Given the description of an element on the screen output the (x, y) to click on. 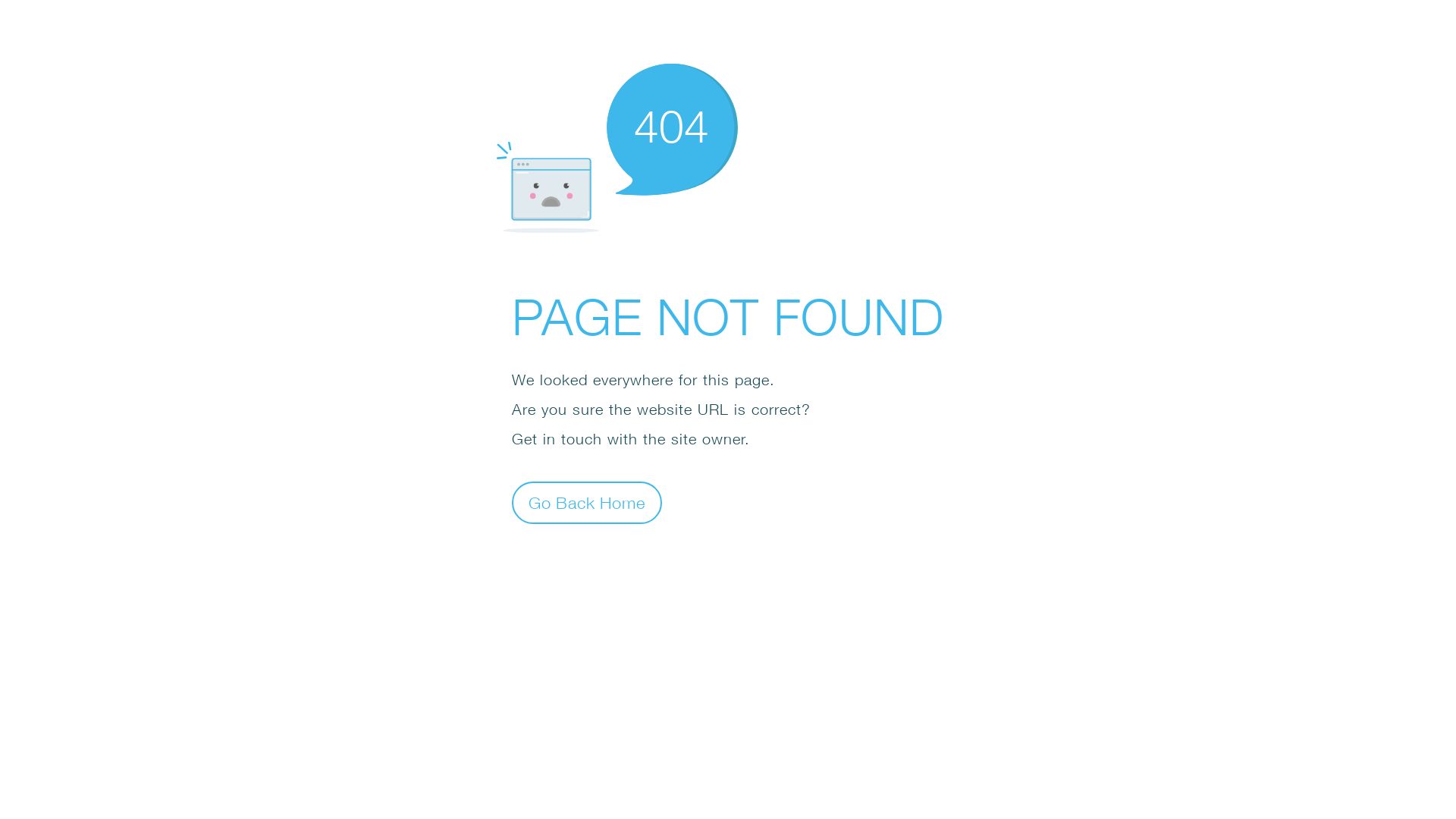
Go Back Home Element type: text (586, 502)
